Given the description of an element on the screen output the (x, y) to click on. 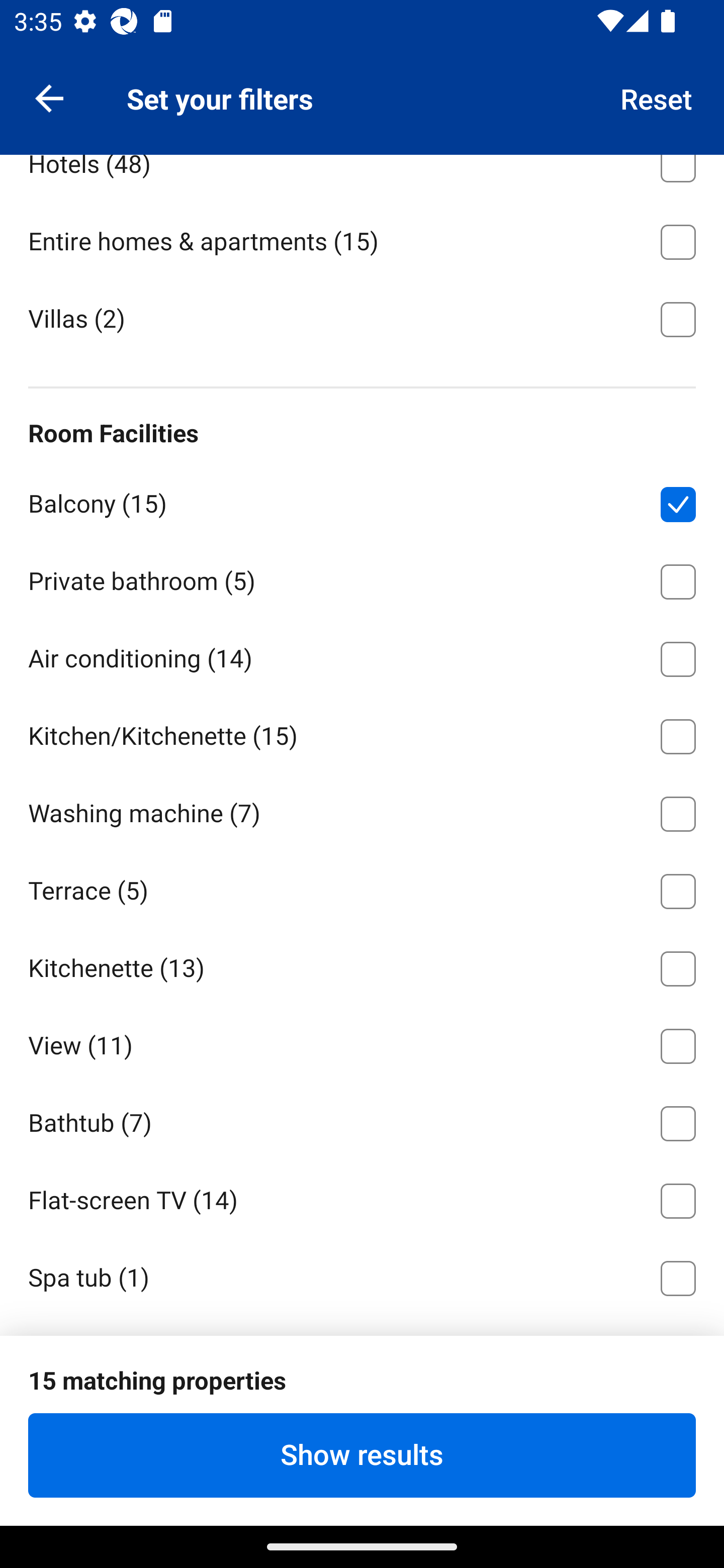
Apartments ⁦(15) (361, 83)
Navigate up (49, 97)
Reset (656, 97)
Hotels ⁦(48) (361, 177)
Entire homes & apartments ⁦(15) (361, 238)
Villas ⁦(2) (361, 318)
Balcony ⁦(15) (361, 500)
Private bathroom ⁦(5) (361, 578)
Air conditioning ⁦(14) (361, 655)
Kitchen/Kitchenette ⁦(15) (361, 732)
Washing machine ⁦(7) (361, 810)
Terrace ⁦(5) (361, 887)
Kitchenette ⁦(13) (361, 964)
View ⁦(11) (361, 1042)
Bathtub ⁦(7) (361, 1119)
Flat-screen TV ⁦(14) (361, 1196)
Spa tub ⁦(1) (361, 1274)
Show results (361, 1454)
